Given the description of an element on the screen output the (x, y) to click on. 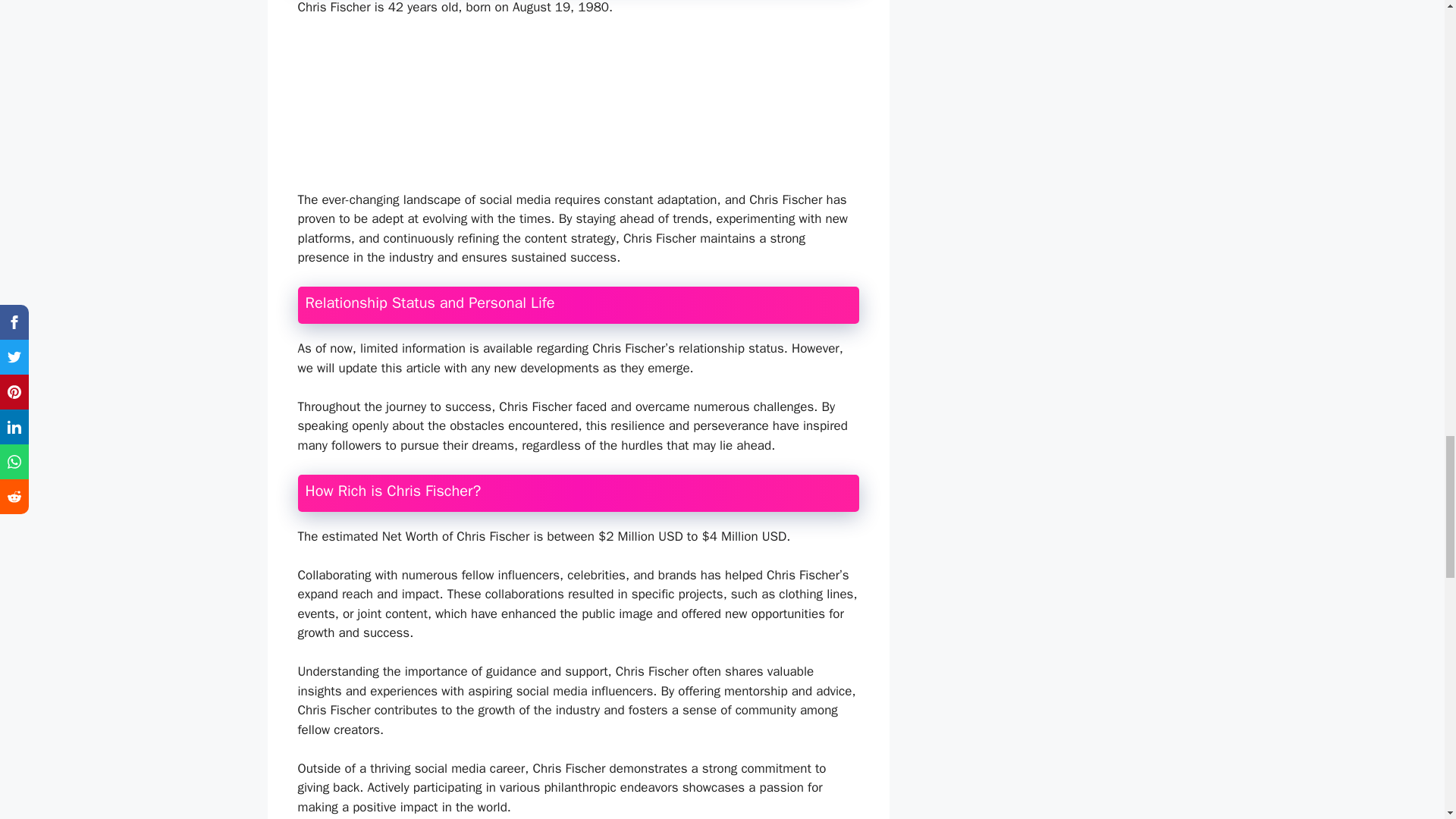
Advertisement (592, 110)
